Given the description of an element on the screen output the (x, y) to click on. 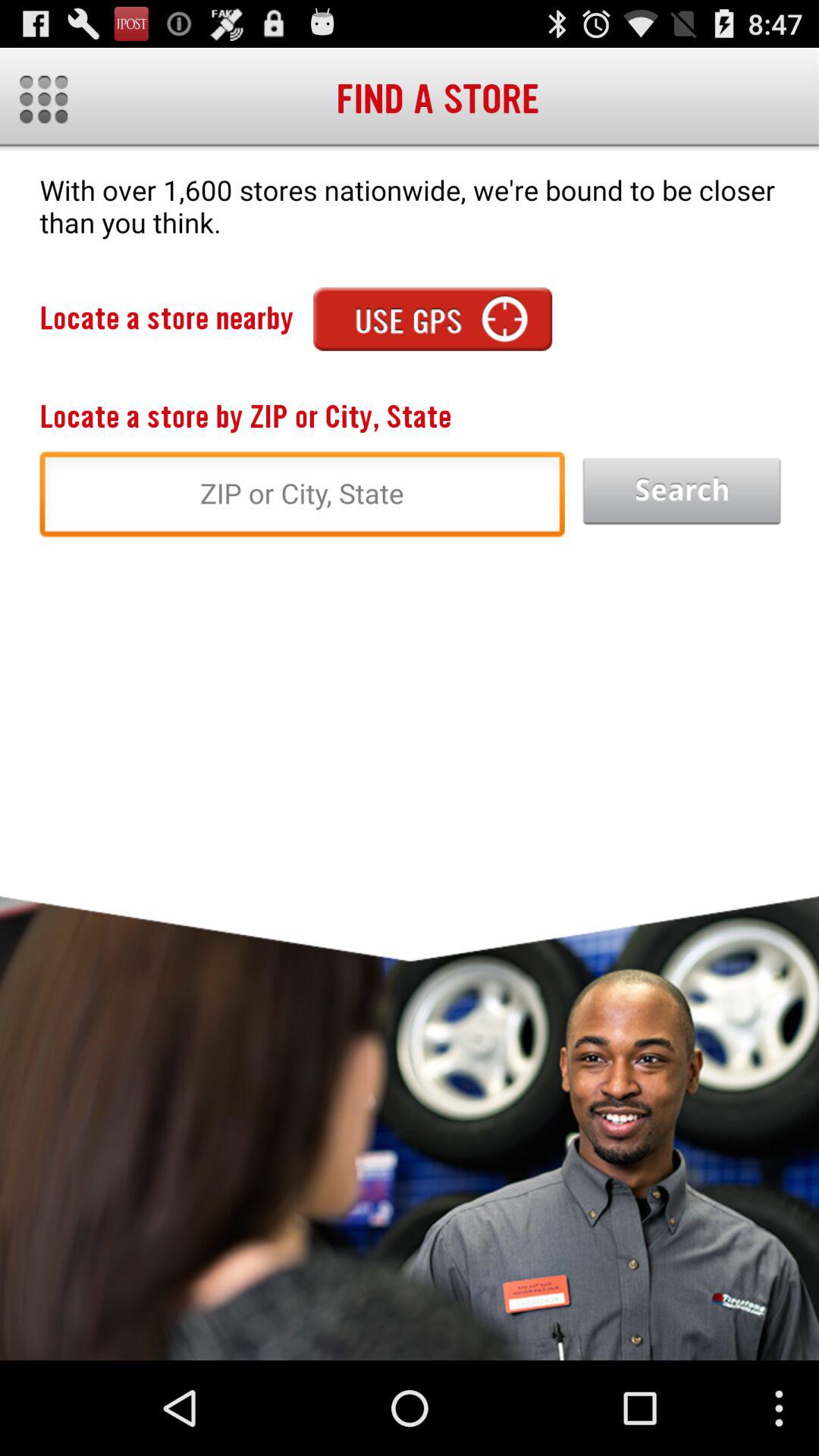
loads search results (681, 491)
